Given the description of an element on the screen output the (x, y) to click on. 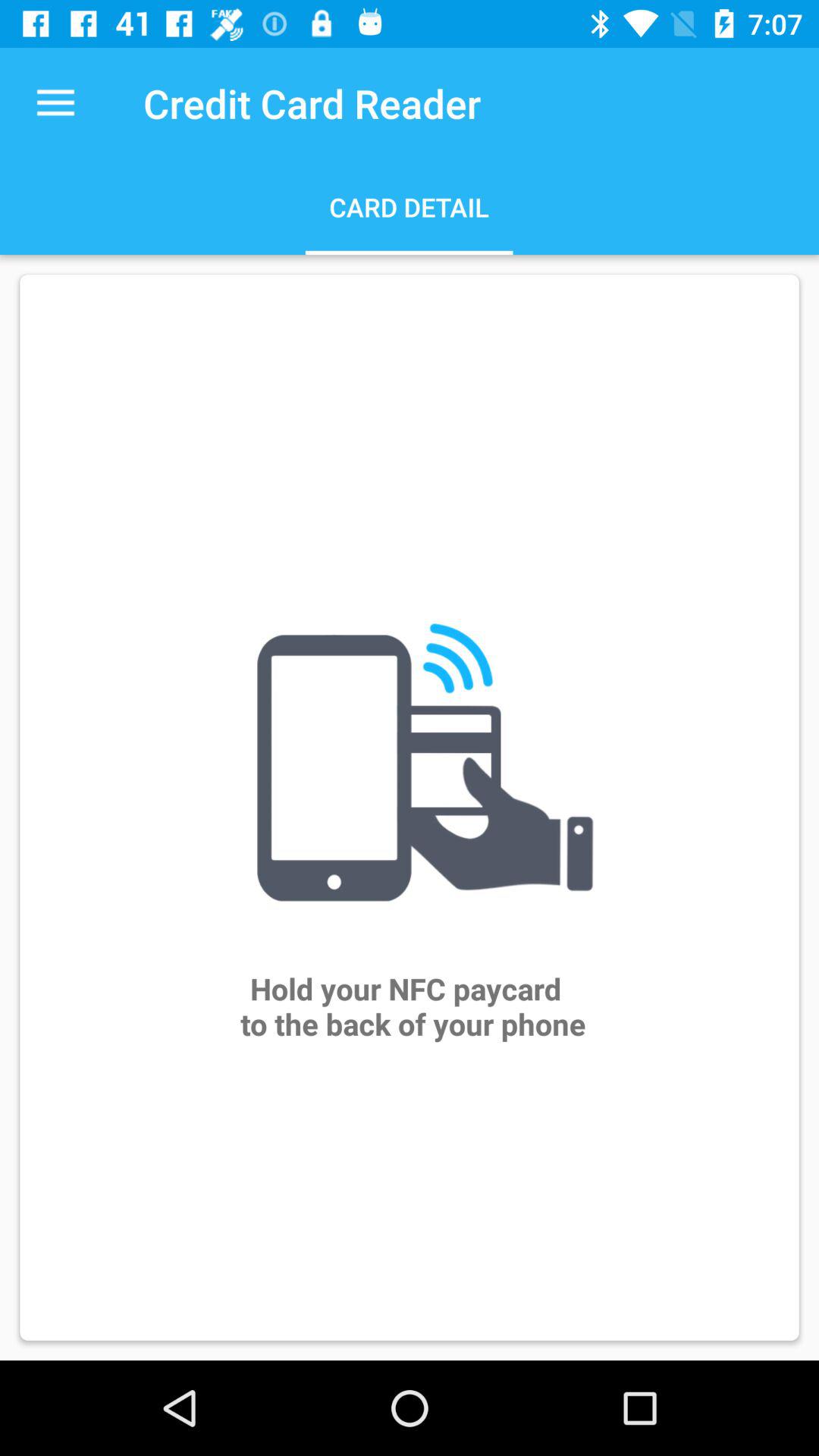
click icon to the left of credit card reader item (55, 103)
